Given the description of an element on the screen output the (x, y) to click on. 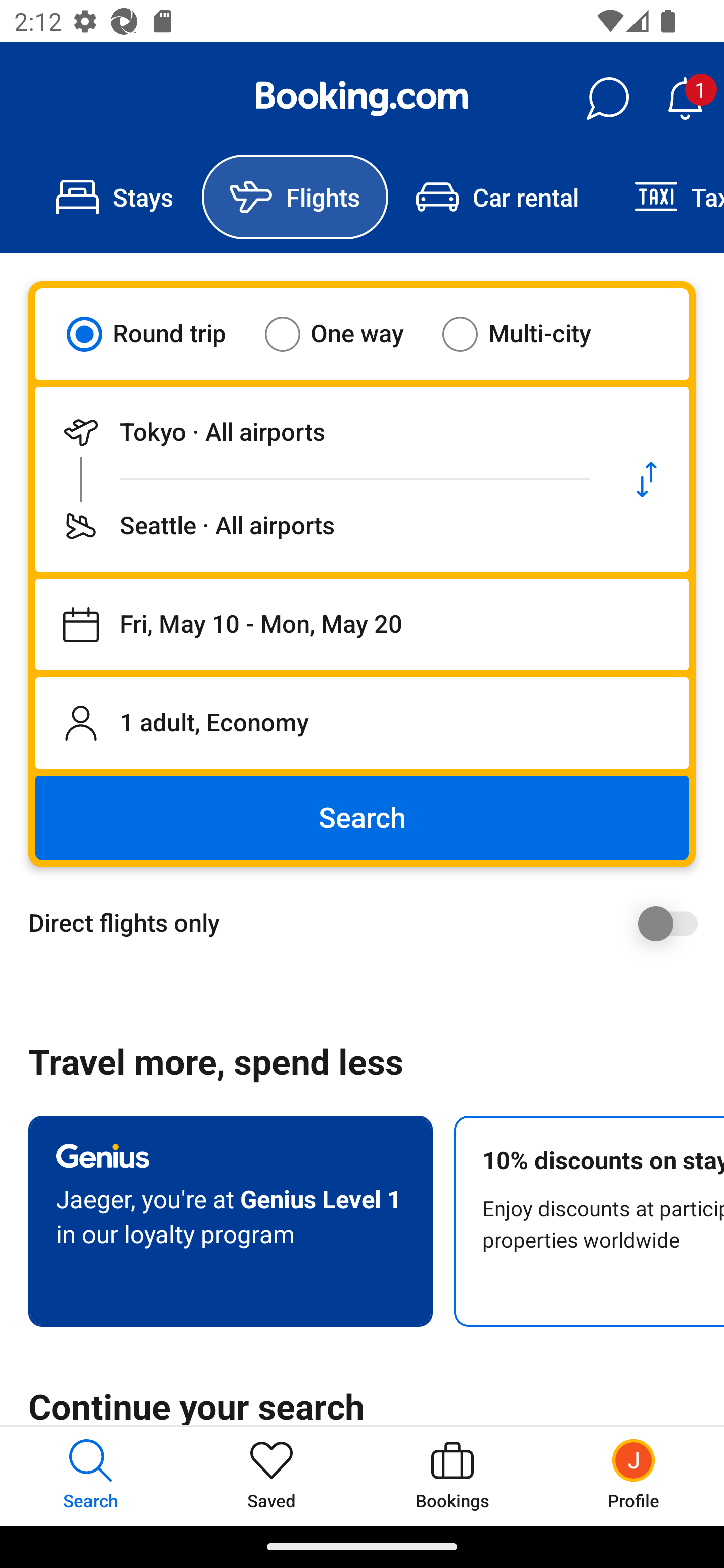
Messages (607, 98)
Notifications (685, 98)
Stays (114, 197)
Flights (294, 197)
Car rental (497, 197)
Taxi (665, 197)
One way (346, 333)
Multi-city (528, 333)
Departing from Tokyo · All airports (319, 432)
Swap departure location and destination (646, 479)
Flying to Seattle · All airports (319, 525)
Departing on Fri, May 10, returning on Mon, May 20 (361, 624)
1 adult, Economy (361, 722)
Search (361, 818)
Direct flights only (369, 923)
Saved (271, 1475)
Bookings (452, 1475)
Profile (633, 1475)
